Given the description of an element on the screen output the (x, y) to click on. 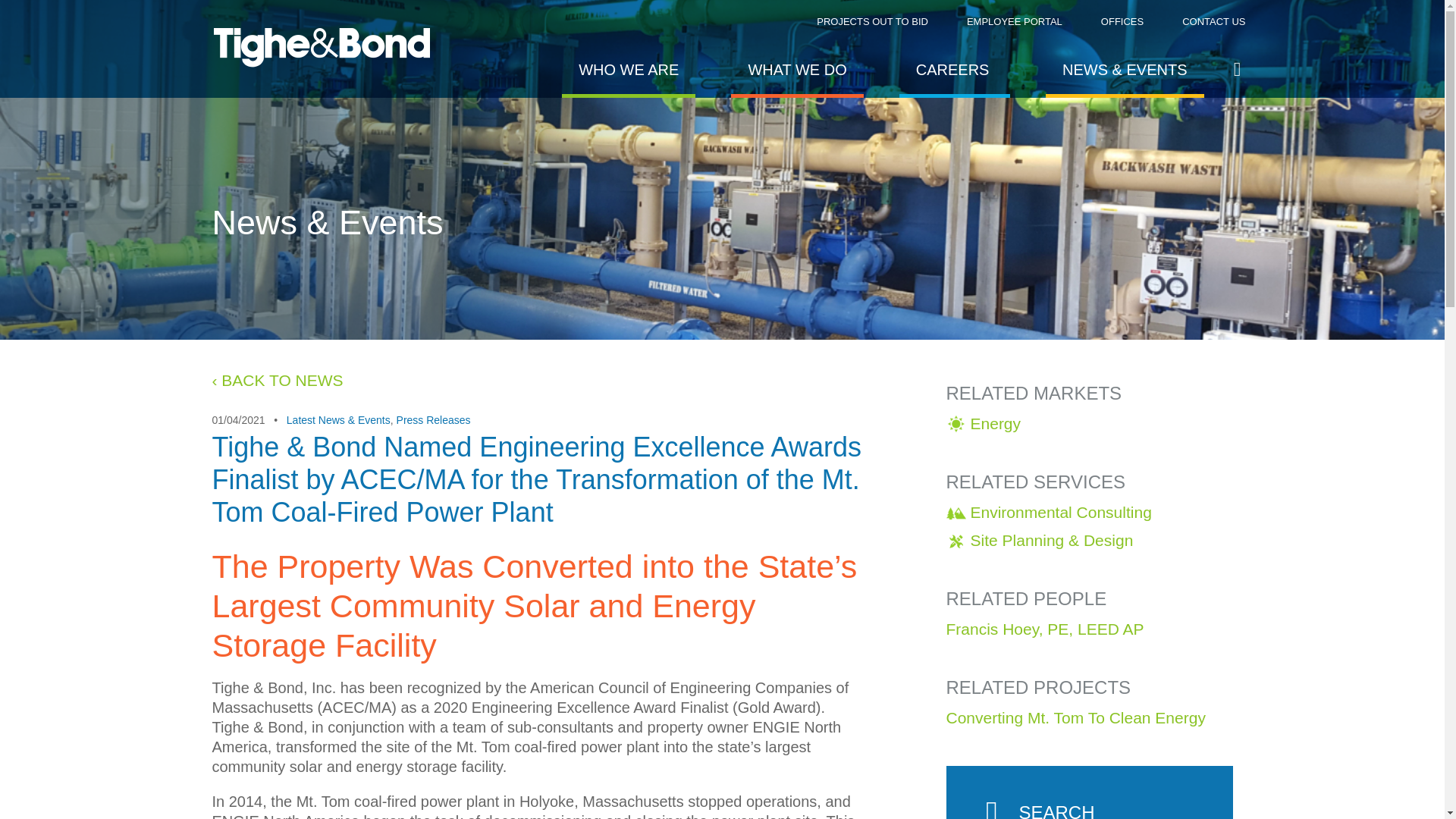
CAREERS  (954, 70)
WHAT WE DO (796, 70)
WHO WE ARE (628, 70)
